Given the description of an element on the screen output the (x, y) to click on. 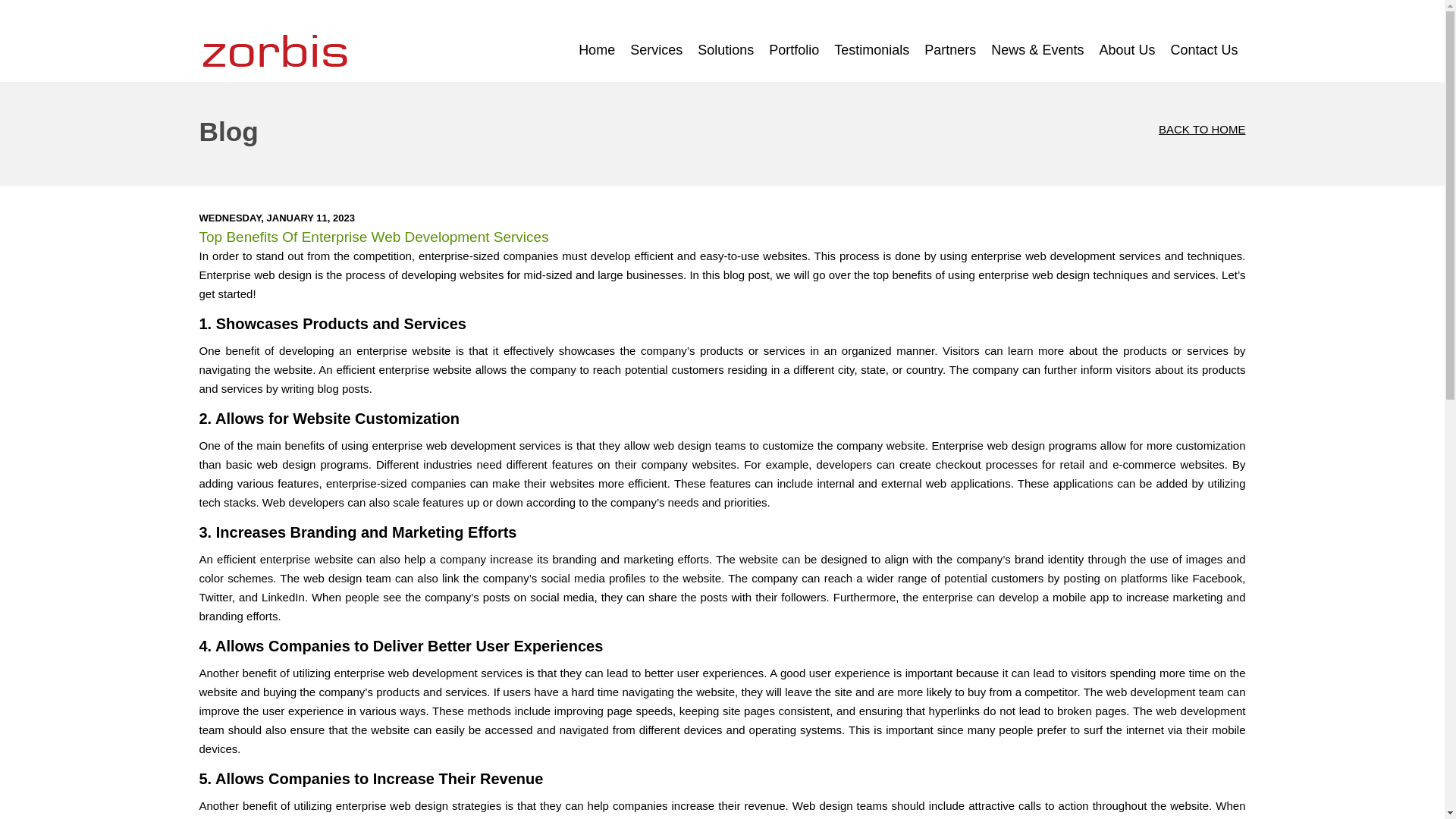
Services (656, 49)
Portfolio (794, 49)
Testimonials (872, 49)
Partners (950, 49)
About Us (1125, 49)
Solutions (725, 49)
